Given the description of an element on the screen output the (x, y) to click on. 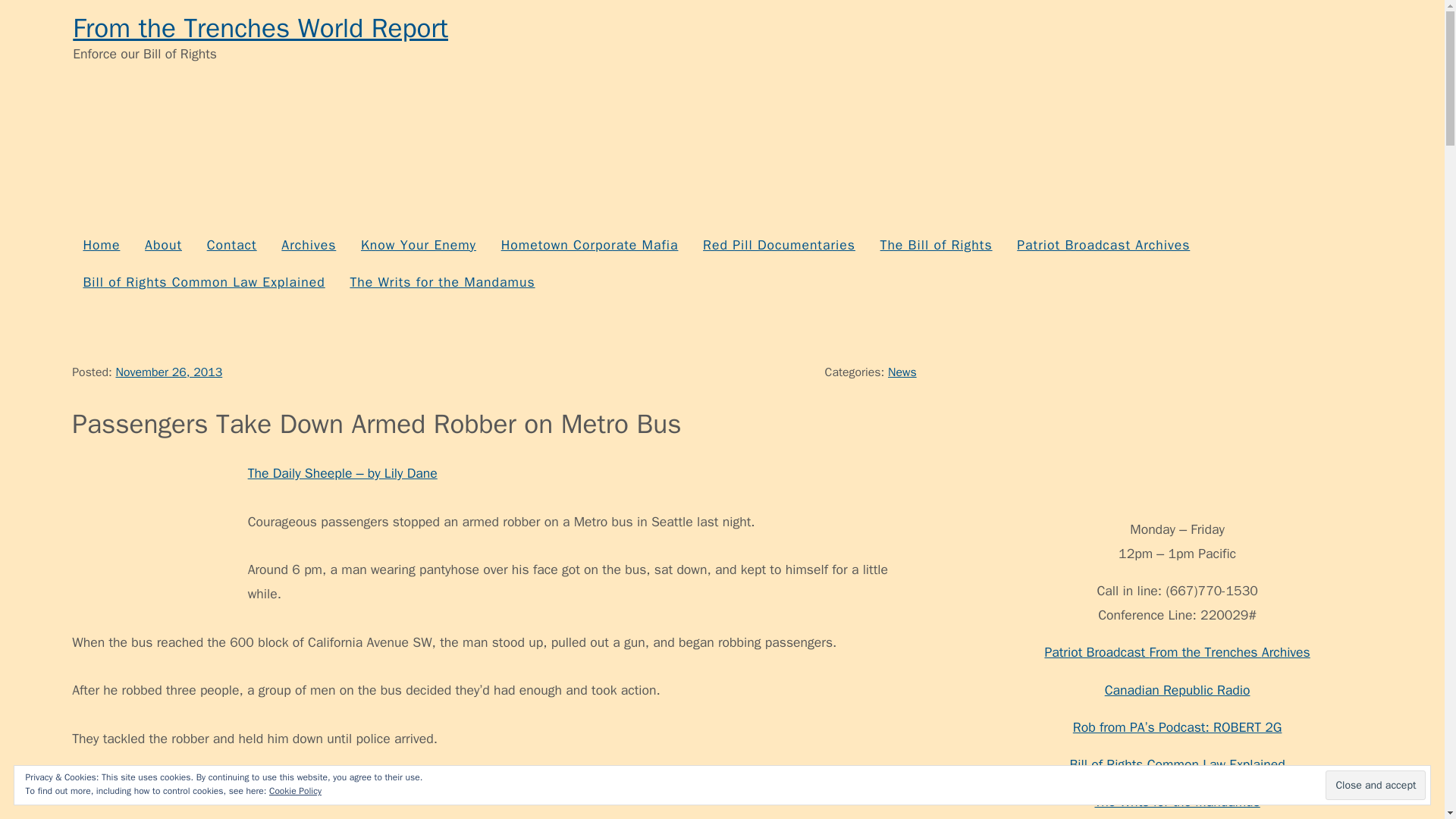
News (902, 372)
November 26, 2013 (168, 372)
The Writs for the Mandamus (441, 282)
Hometown Corporate Mafia (588, 244)
Red Pill Documentaries (778, 244)
KOMO News (582, 786)
Patriot Broadcast Archives (1103, 244)
From the Trenches World Report (260, 28)
About (163, 244)
Bill of Rights Common Law Explained (203, 282)
